Given the description of an element on the screen output the (x, y) to click on. 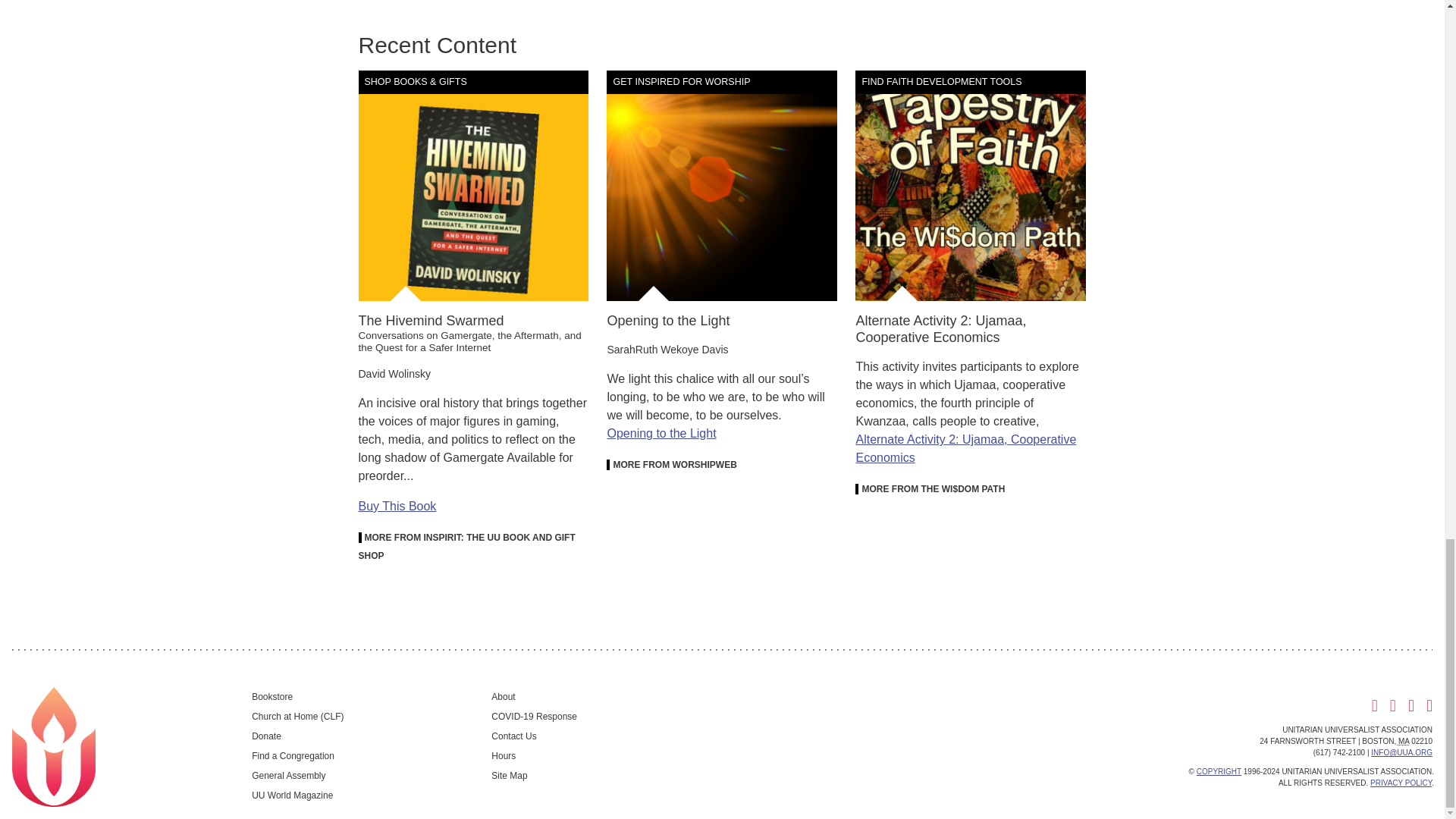
Photo by user kalhh on pixabay.com (722, 185)
